Given the description of an element on the screen output the (x, y) to click on. 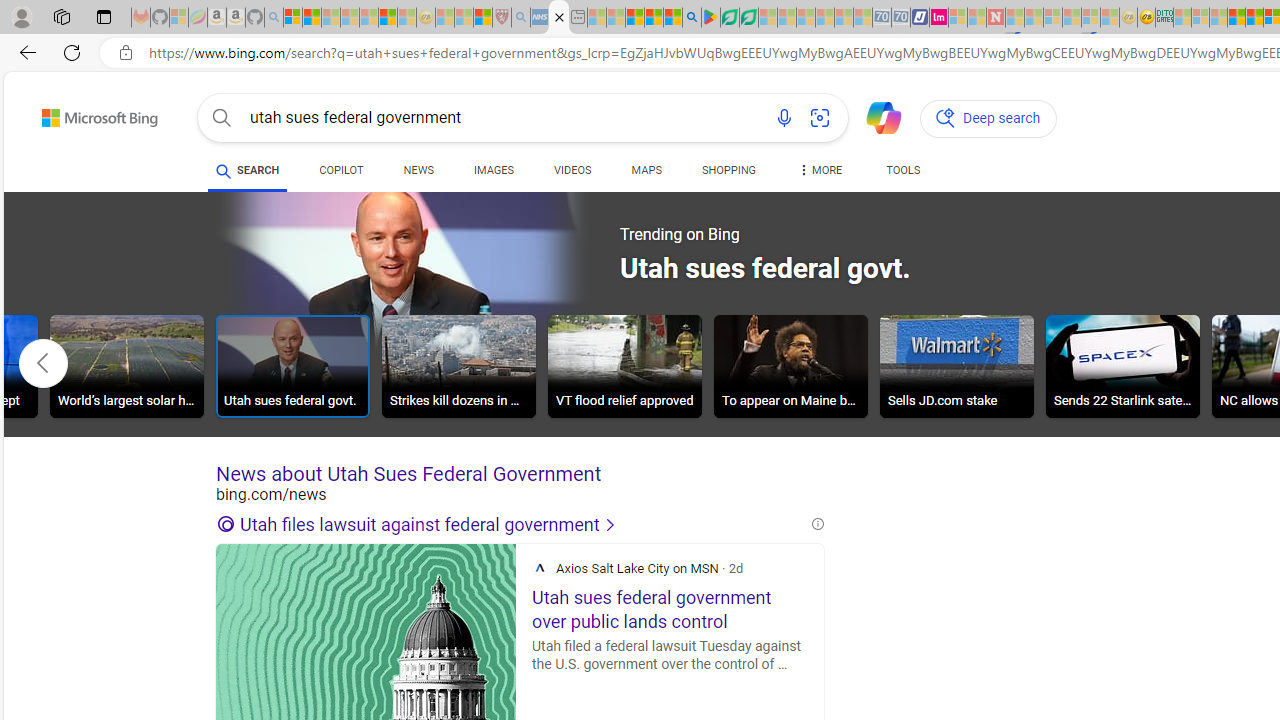
Utah sues federal govt. (292, 365)
Pets - MSN (654, 17)
Strikes kill dozens in Gaza (458, 369)
COPILOT (341, 173)
Terms of Use Agreement (729, 17)
To appear on Maine ballot (790, 369)
Bluey: Let's Play! - Apps on Google Play (710, 17)
